Given the description of an element on the screen output the (x, y) to click on. 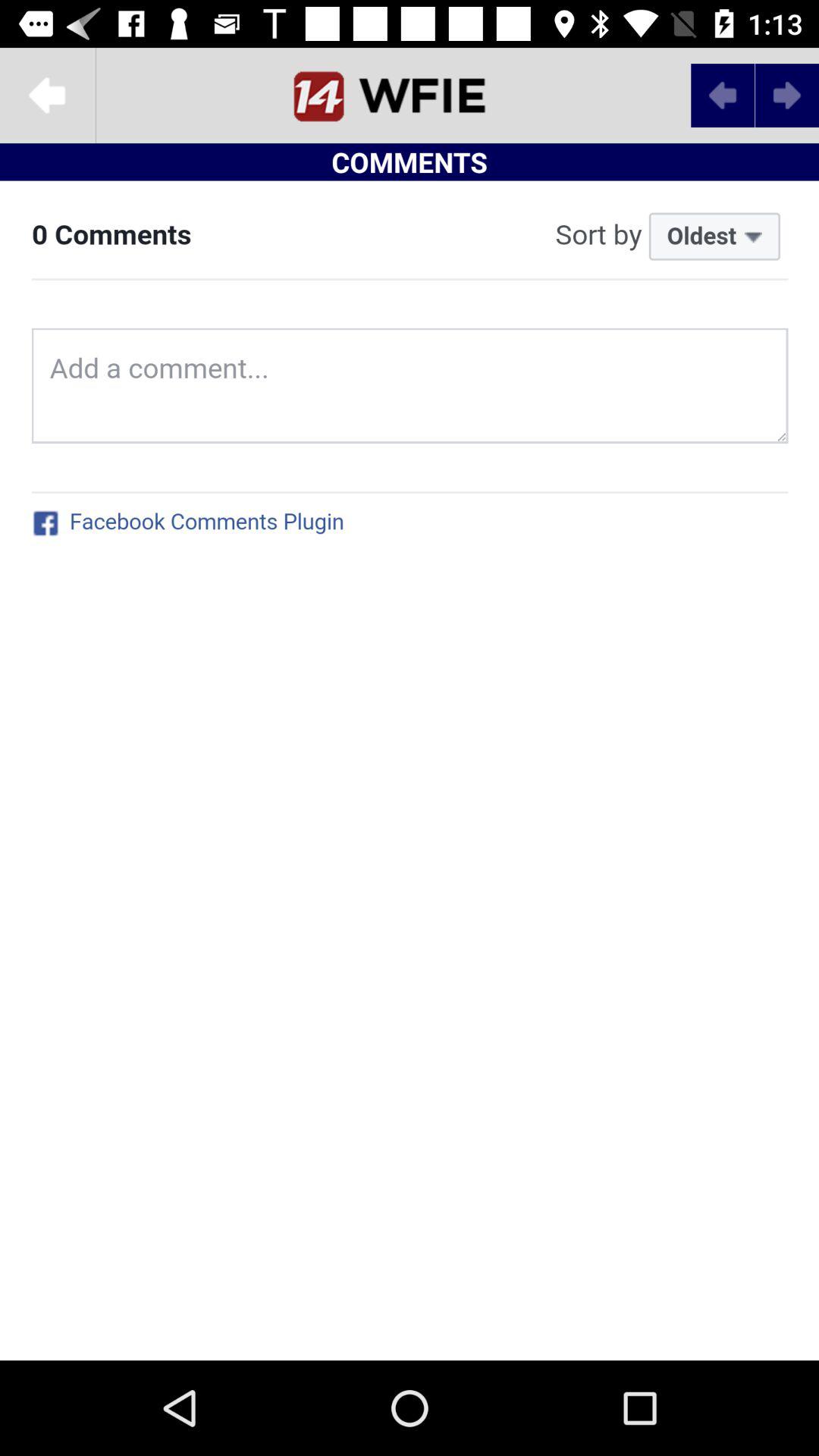
next (722, 95)
